Given the description of an element on the screen output the (x, y) to click on. 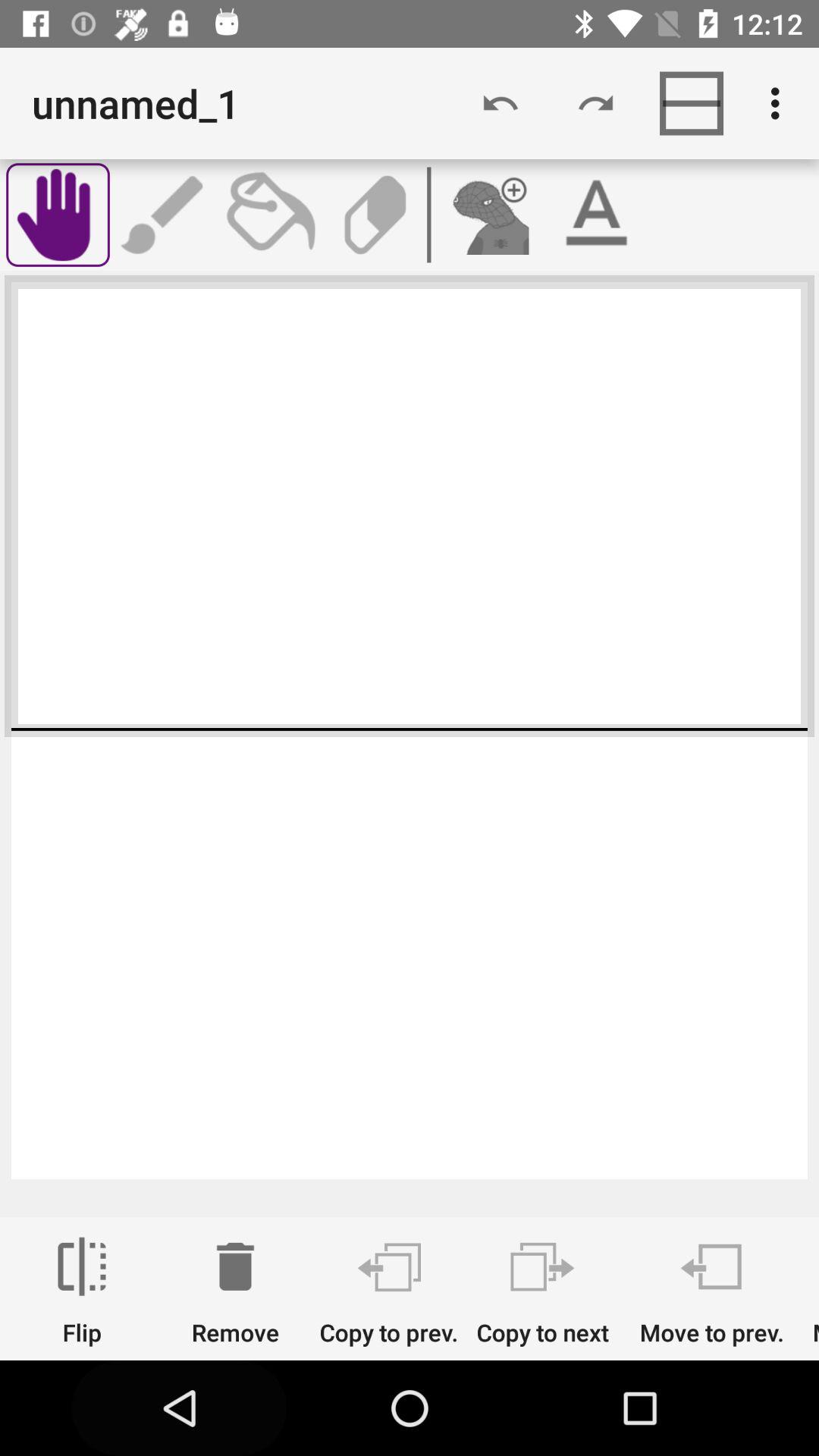
eraser button (375, 214)
